Given the description of an element on the screen output the (x, y) to click on. 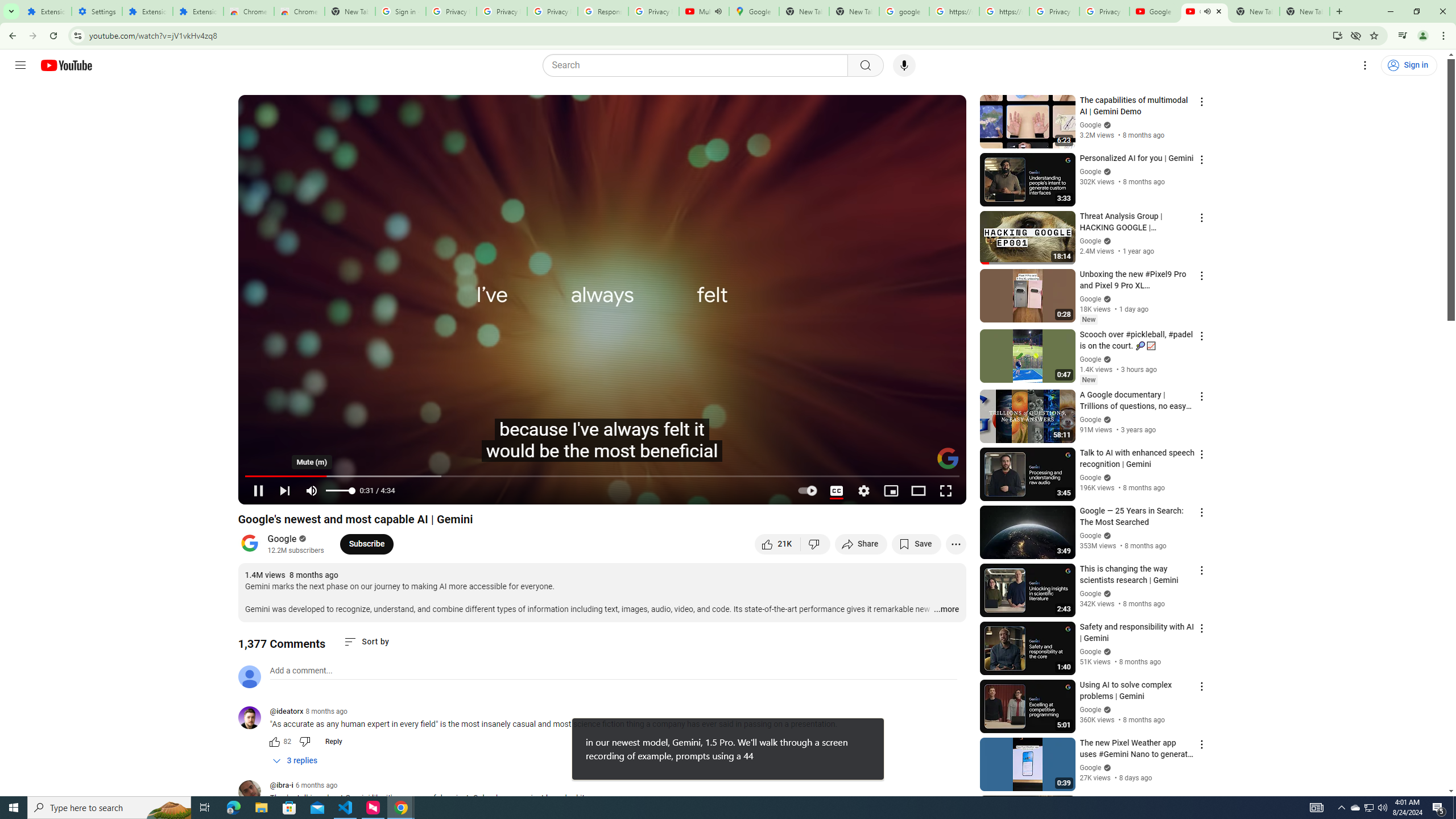
YouTube Home (66, 65)
Subscribe to Google. (366, 543)
@ibra-i (253, 792)
Guide (20, 65)
Action menu (1200, 802)
Extensions (146, 11)
Play (k) (257, 490)
Full screen (f) (945, 490)
AutomationID: simplebox-placeholder (301, 670)
Google (282, 538)
